Given the description of an element on the screen output the (x, y) to click on. 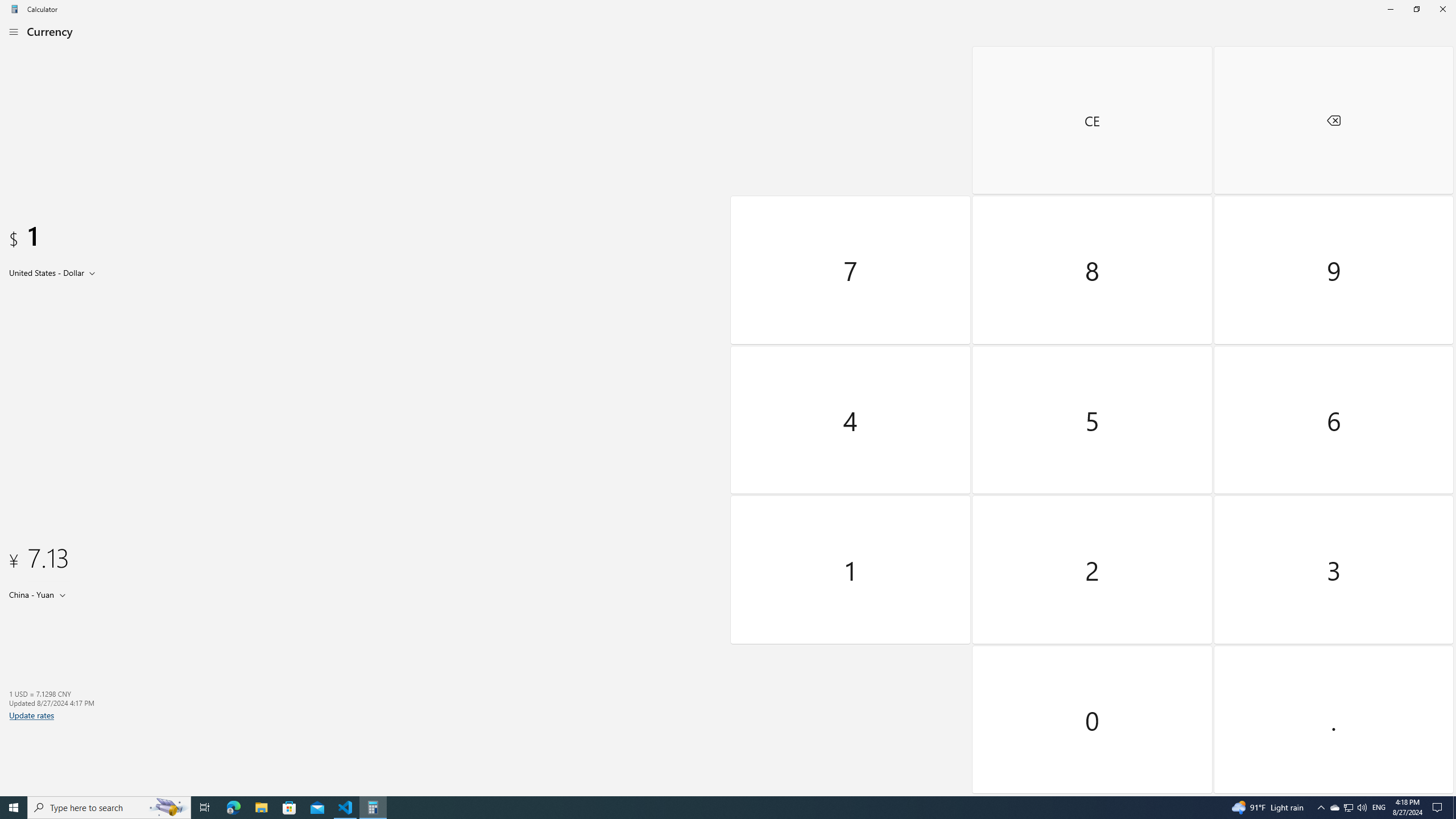
Clear entry (1092, 119)
Eight (1092, 269)
Close Calculator (1442, 9)
Three (1333, 569)
Open Navigation (13, 31)
Input unit (54, 272)
